Given the description of an element on the screen output the (x, y) to click on. 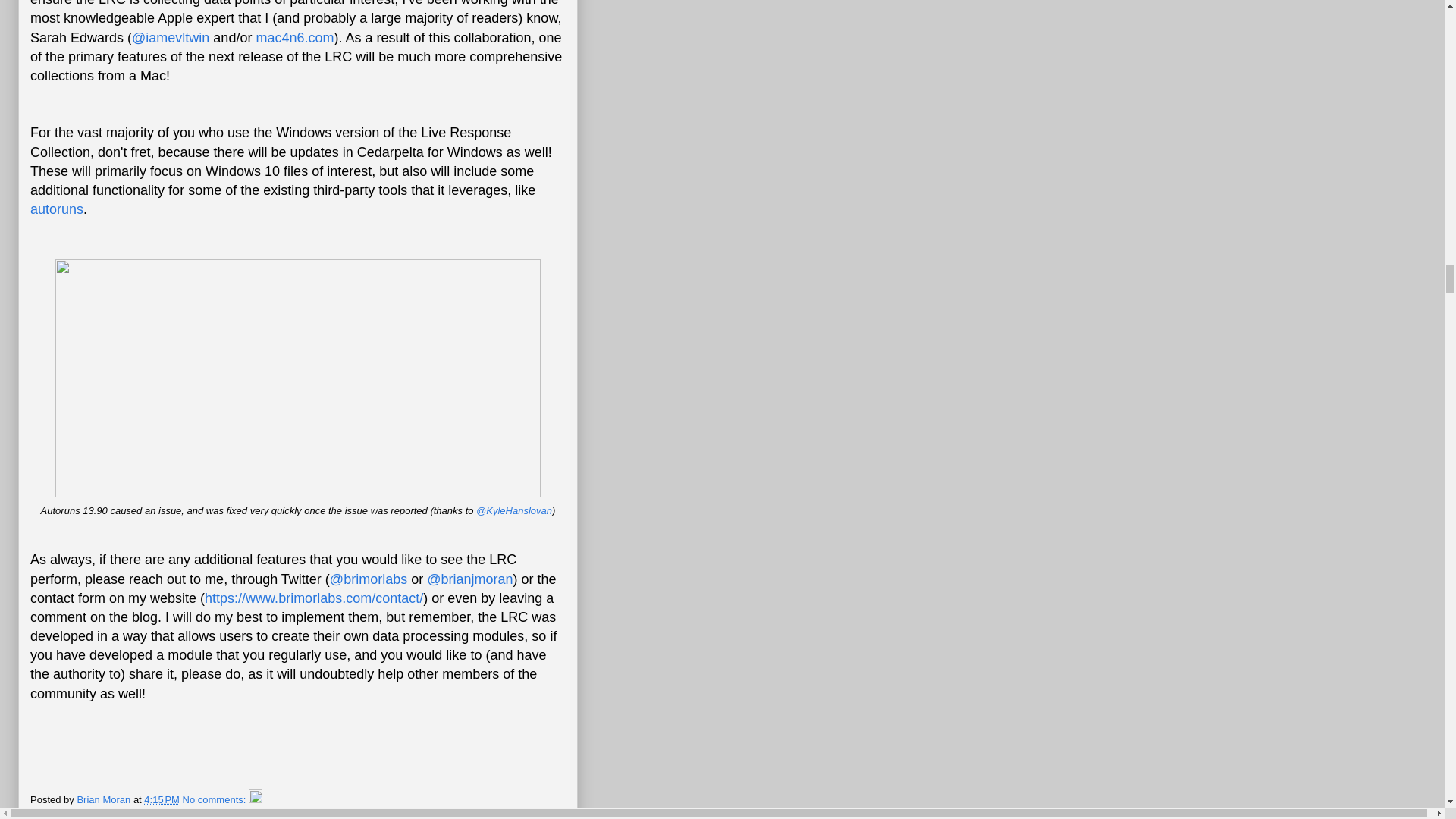
permanent link (161, 799)
Email This (52, 810)
Edit Post (255, 799)
author profile (104, 799)
Share to Twitter (151, 810)
BlogThis! (95, 810)
Share to Facebook (227, 810)
